Given the description of an element on the screen output the (x, y) to click on. 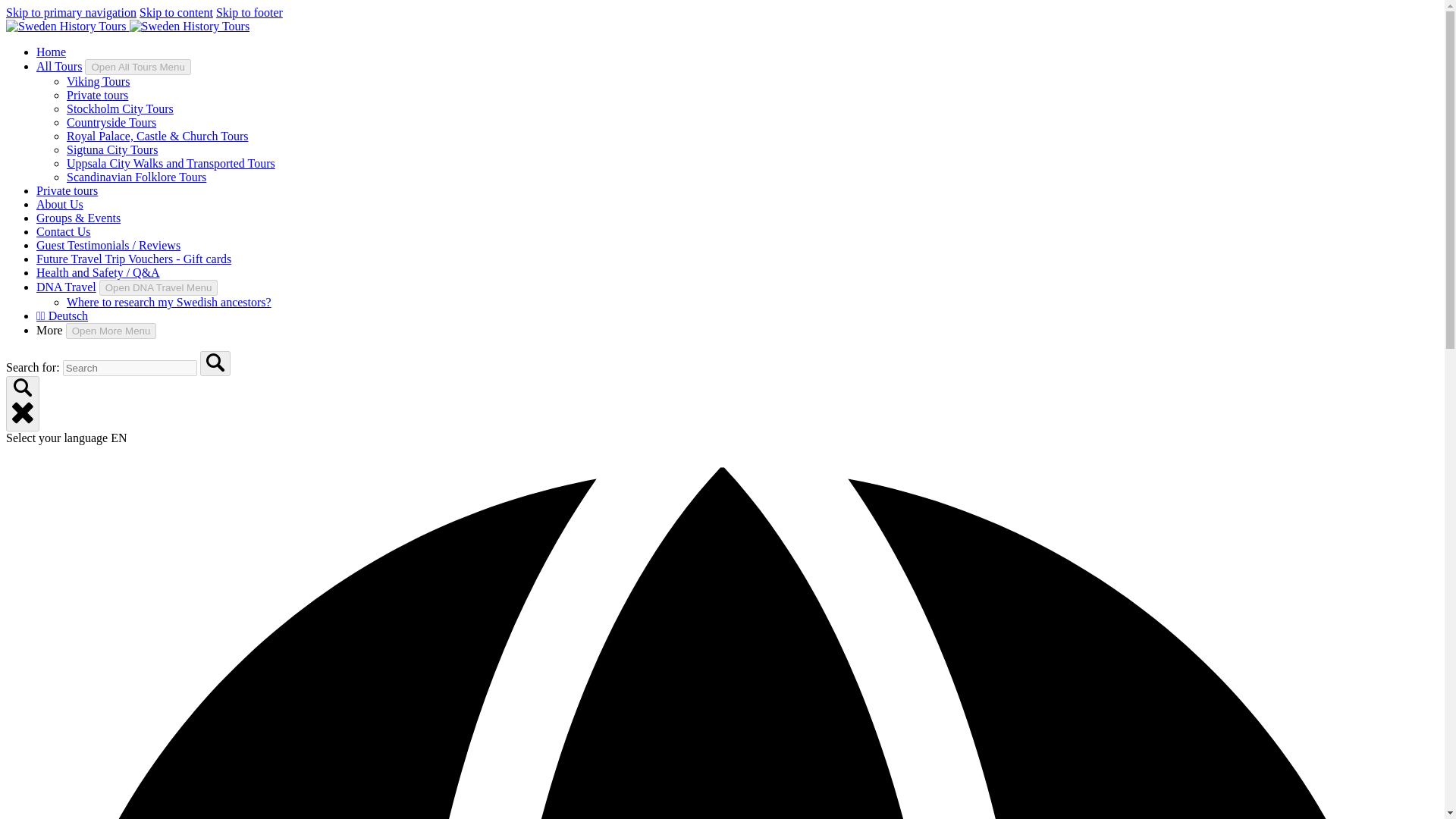
Sigtuna City Tours (111, 149)
DNA Travel (66, 286)
Skip to footer (248, 11)
Skip to primary navigation (70, 11)
Viking Tours (97, 81)
Private tours (66, 190)
Open All Tours Menu (137, 66)
All Tours (58, 65)
Uppsala City Walks and Transported Tours (170, 163)
Search (215, 363)
